Given the description of an element on the screen output the (x, y) to click on. 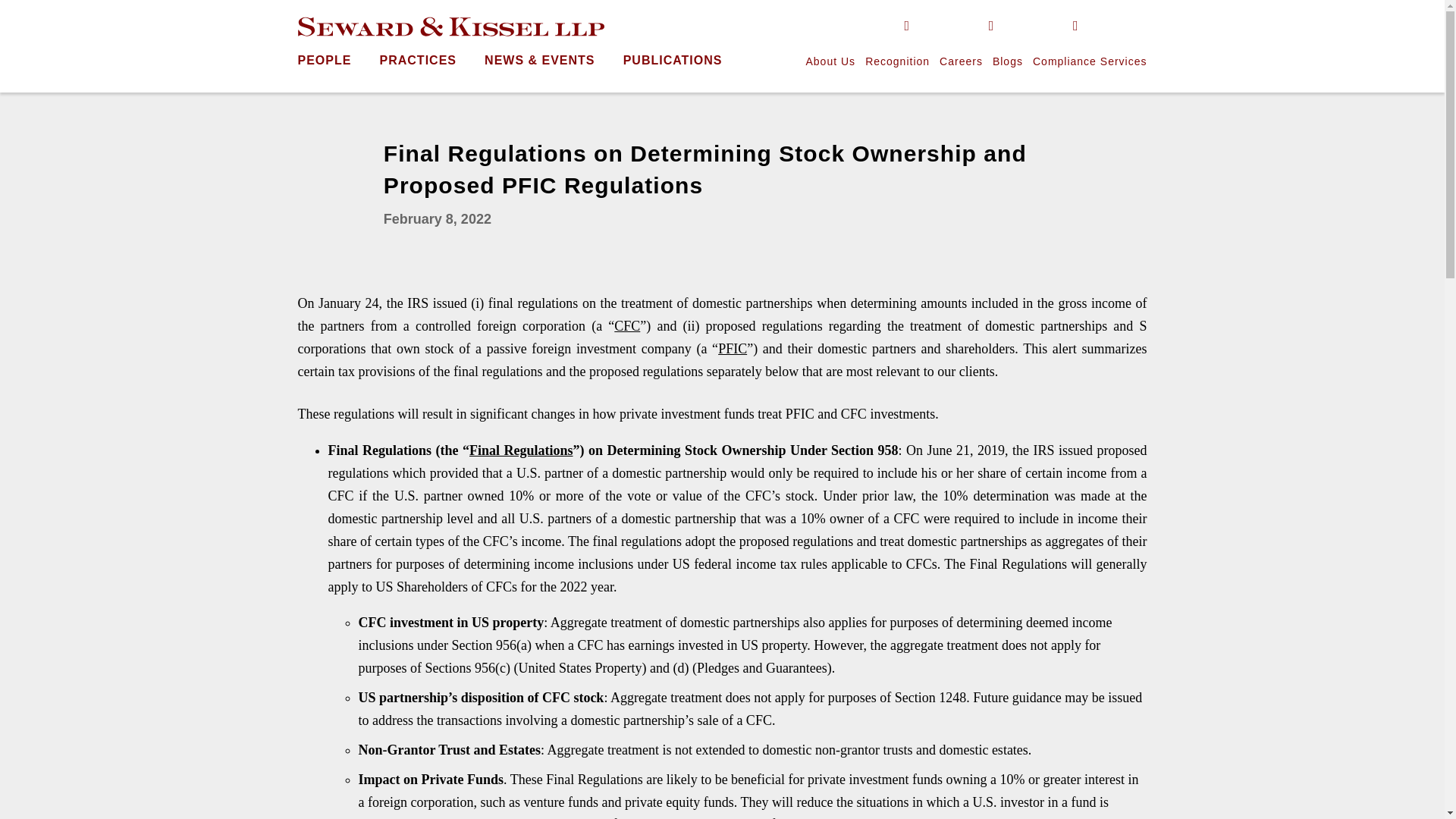
PRACTICES (418, 60)
Careers (960, 61)
About Us (830, 61)
PUBLICATIONS (672, 60)
Compliance Services (1089, 61)
Recognition (897, 61)
Blogs (1007, 61)
PEOPLE (323, 60)
